Given the description of an element on the screen output the (x, y) to click on. 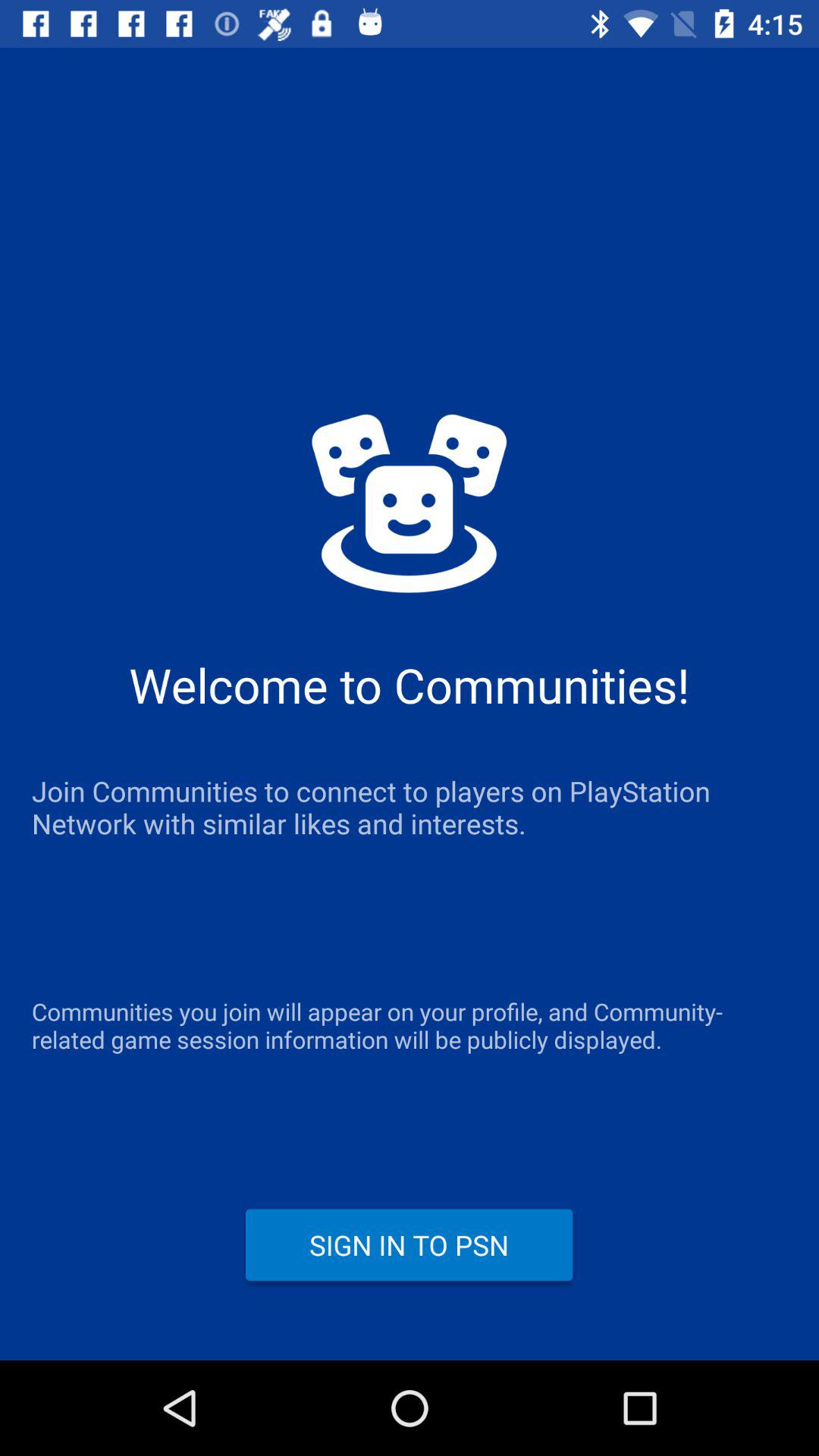
tap the sign in to (408, 1244)
